Given the description of an element on the screen output the (x, y) to click on. 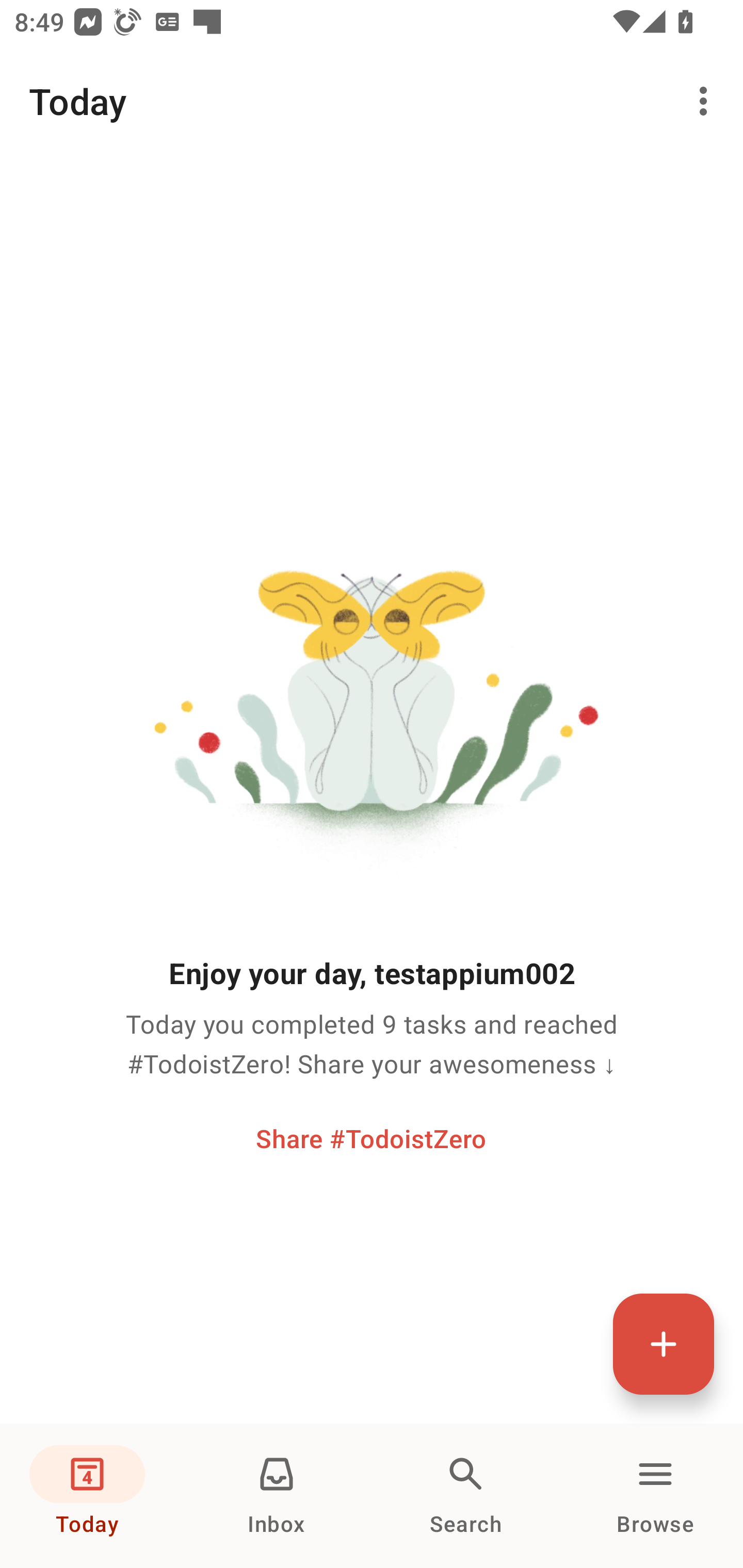
Today More options (371, 100)
More options (706, 101)
Share #TodoistZero (370, 1138)
Quick add (663, 1343)
Inbox (276, 1495)
Search (465, 1495)
Browse (655, 1495)
